Given the description of an element on the screen output the (x, y) to click on. 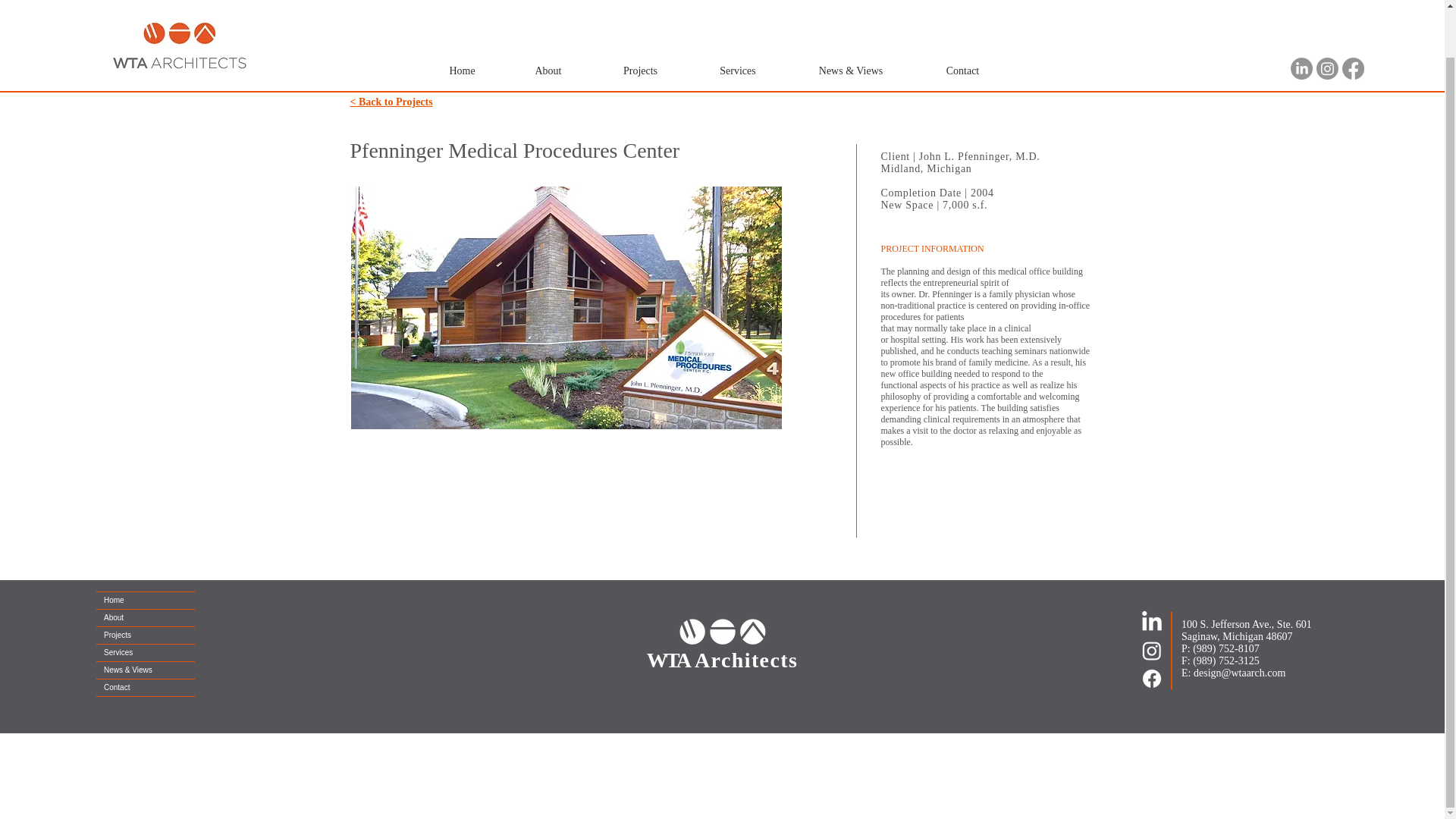
Home (462, 20)
About (548, 20)
About (145, 617)
Home (145, 600)
Services (737, 20)
Projects (639, 20)
Contact (962, 20)
